Given the description of an element on the screen output the (x, y) to click on. 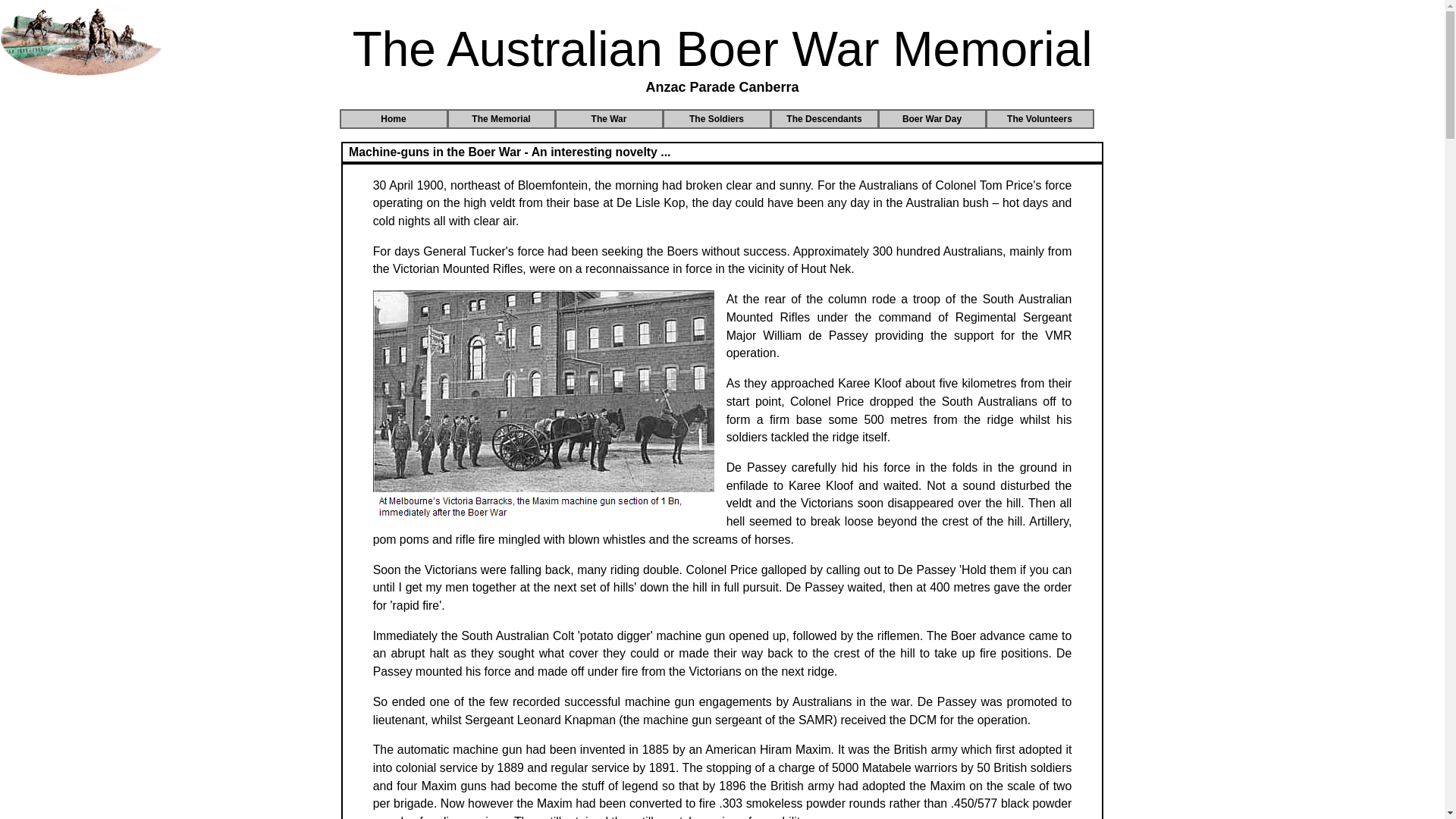
The Soldiers Element type: text (716, 118)
Home Element type: text (393, 118)
Boer War Day Element type: text (932, 118)
The Descendants Element type: text (824, 118)
The Memorial Element type: text (501, 118)
The War Element type: text (609, 118)
The Volunteers Element type: text (1039, 118)
